Given the description of an element on the screen output the (x, y) to click on. 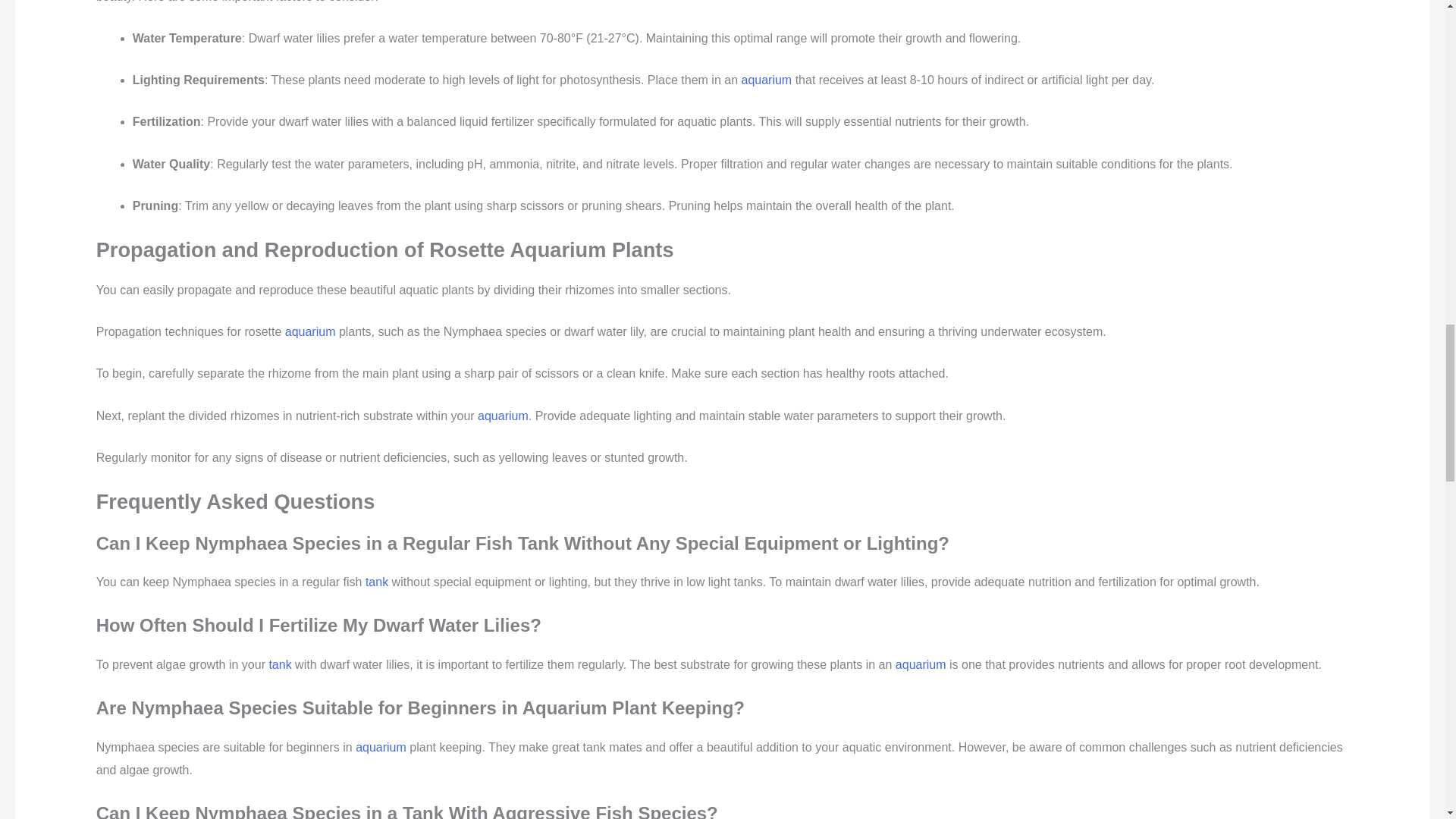
aquarium (502, 415)
aquarium (380, 747)
aquarium (920, 664)
tank (279, 664)
aquarium (310, 331)
aquarium (766, 79)
tank (376, 581)
